Given the description of an element on the screen output the (x, y) to click on. 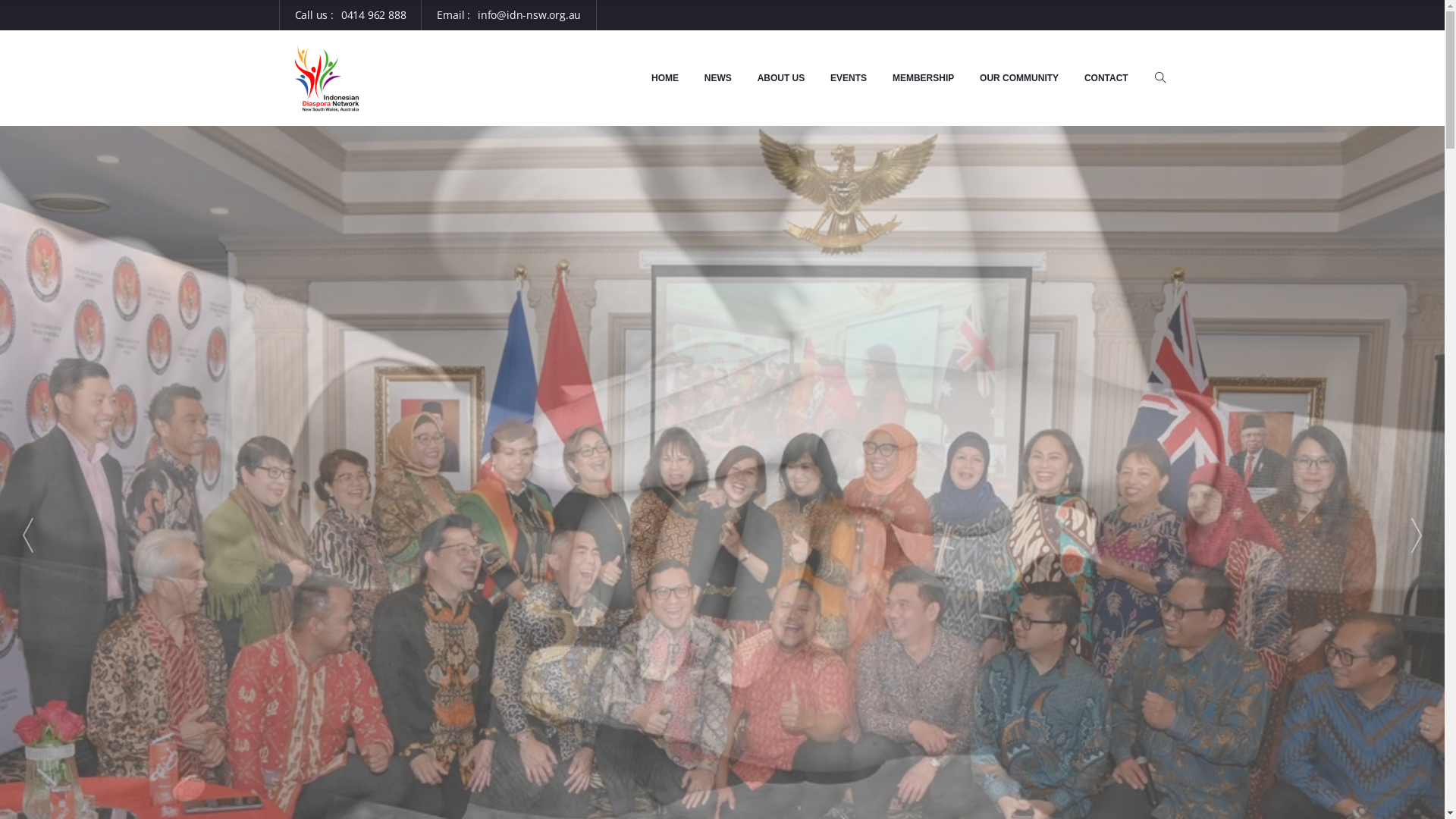
OUR COMMUNITY Element type: text (1019, 77)
EVENTS Element type: text (848, 77)
ABOUT US Element type: text (781, 77)
CONTACT Element type: text (1106, 77)
info@idn-nsw.org.au Element type: text (528, 15)
MEMBERSHIP Element type: text (923, 77)
HOME Element type: text (665, 77)
NEWS Element type: text (718, 77)
0414 962 888 Element type: text (373, 15)
